Given the description of an element on the screen output the (x, y) to click on. 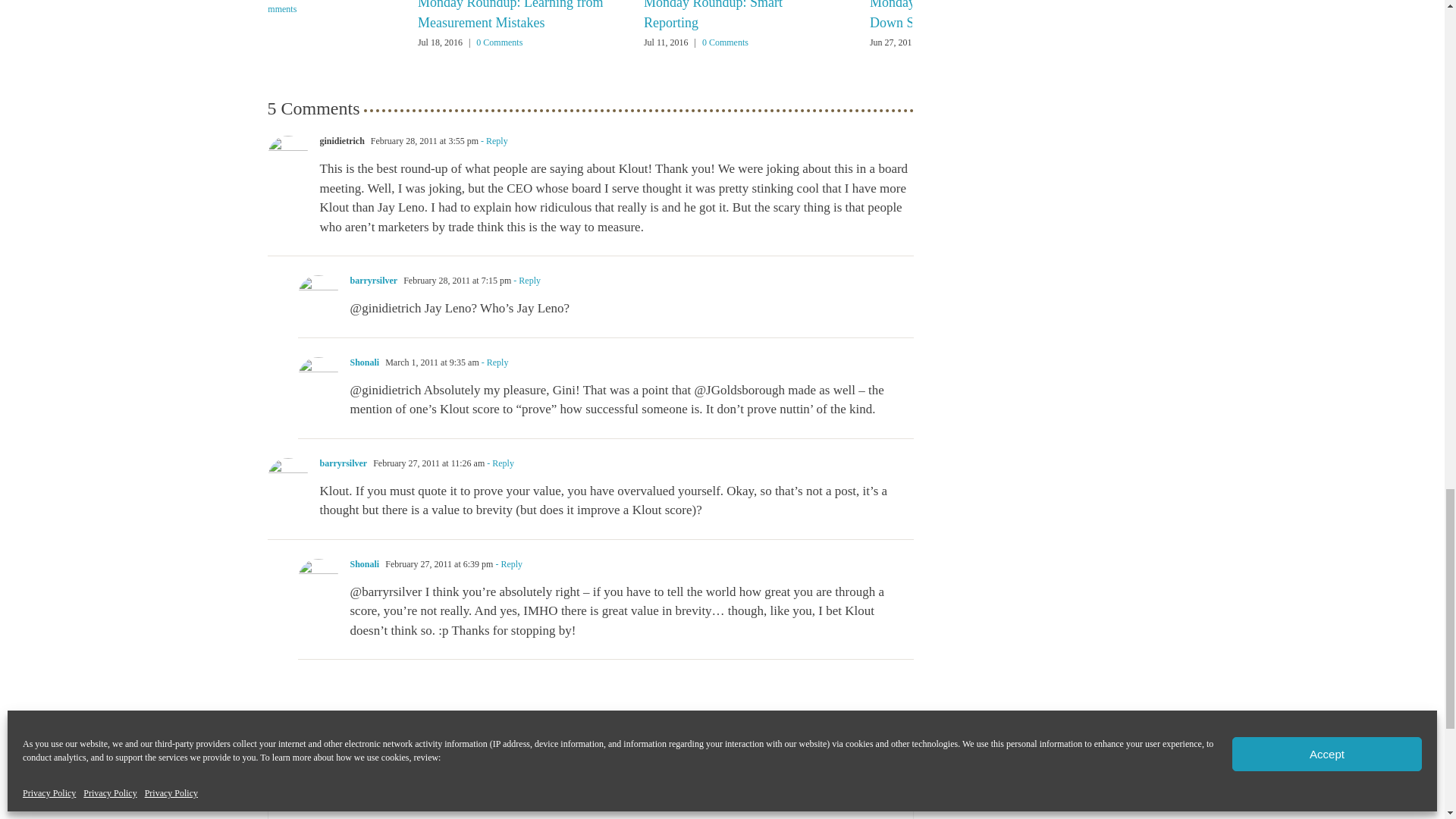
Monday Roundup: Knocking Down Silos (949, 15)
Monday Roundup: Smart Reporting (713, 15)
Comment via WordPress.com (852, 758)
Comment via Facebook (900, 758)
Comment via Twitter (877, 758)
Monday Roundup: Learning from Measurement Mistakes (509, 15)
